Given the description of an element on the screen output the (x, y) to click on. 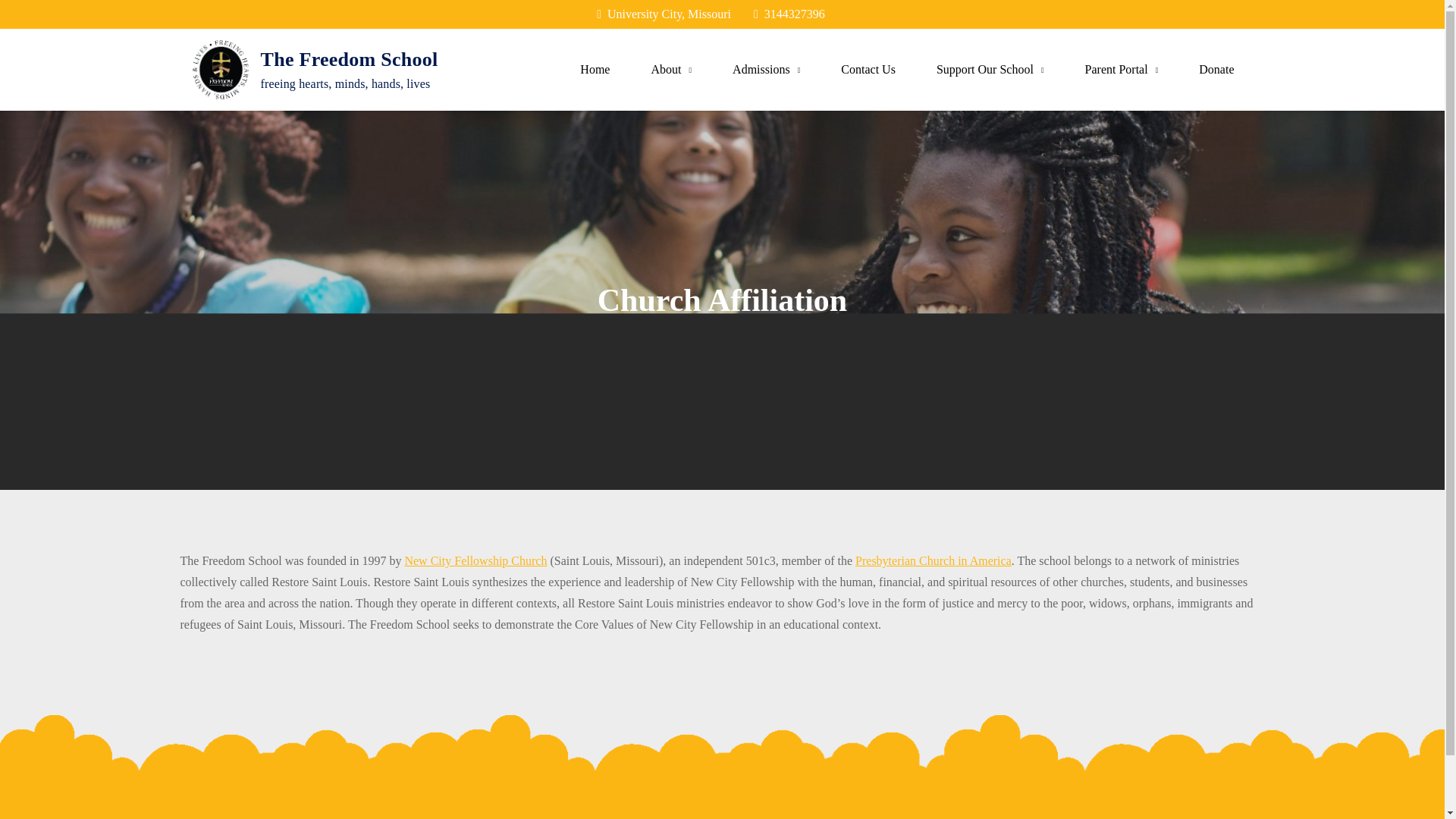
Parent Portal (1121, 69)
Home (594, 69)
Presbyterian Church in America (933, 560)
Donate (1215, 69)
New City Fellowship Church (475, 560)
Admissions (765, 69)
About (670, 69)
Support Our School (989, 69)
Contact Us (868, 69)
The Freedom School (349, 59)
3144327396 (789, 13)
